Given the description of an element on the screen output the (x, y) to click on. 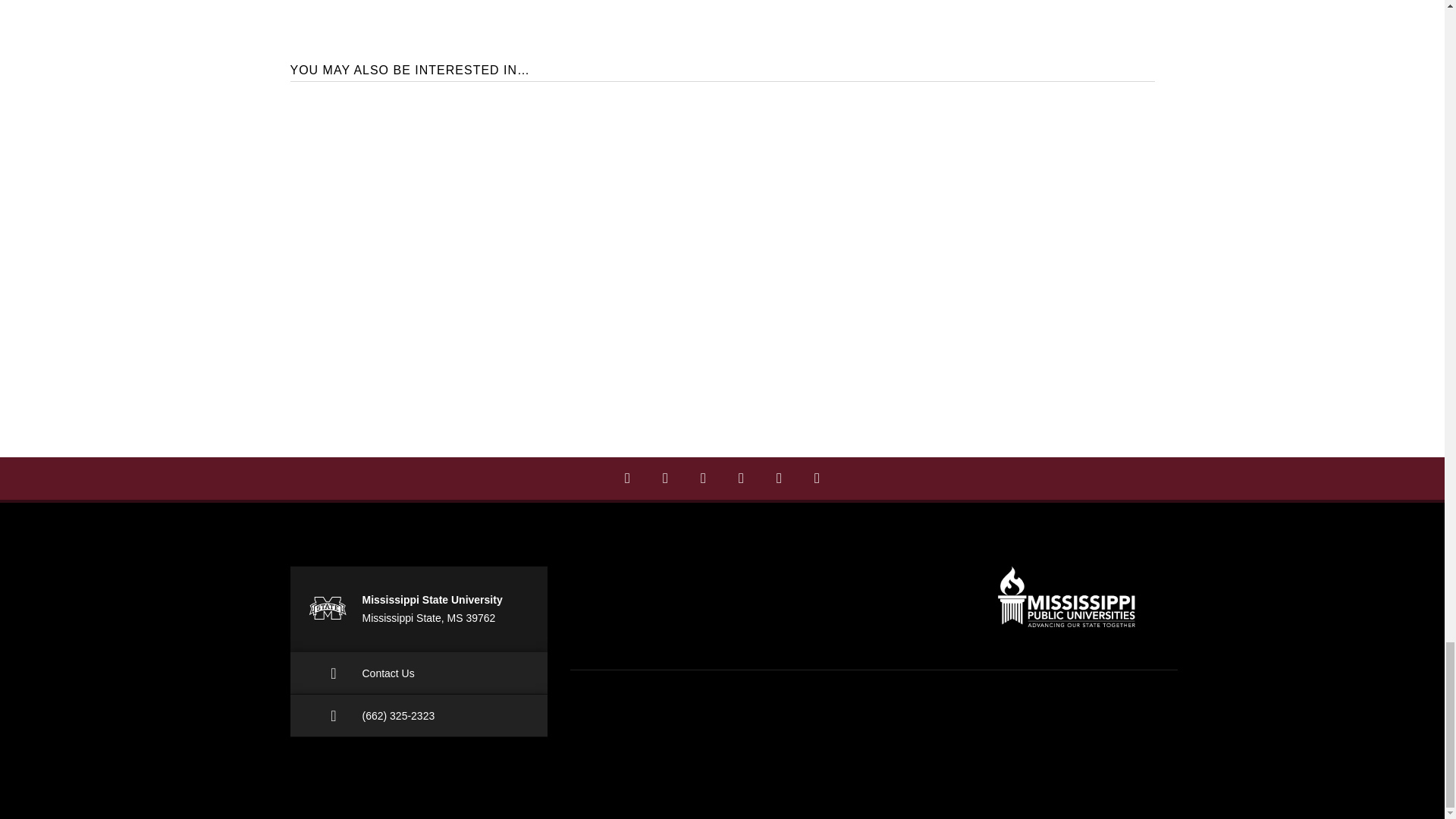
Mississippi State University (326, 607)
Find Mississippi State University on Instagram (665, 478)
Find Mississippi State University on Twitter (778, 478)
Mississippi Public Universities (1066, 596)
Contact Us (418, 672)
Find Mississippi State University on Pinterest (741, 478)
Find Mississippi State University on YouTube (816, 478)
Find Mississippi State University on Facebook (627, 478)
Find Mississippi State University on LinkedIn (703, 478)
